Given the description of an element on the screen output the (x, y) to click on. 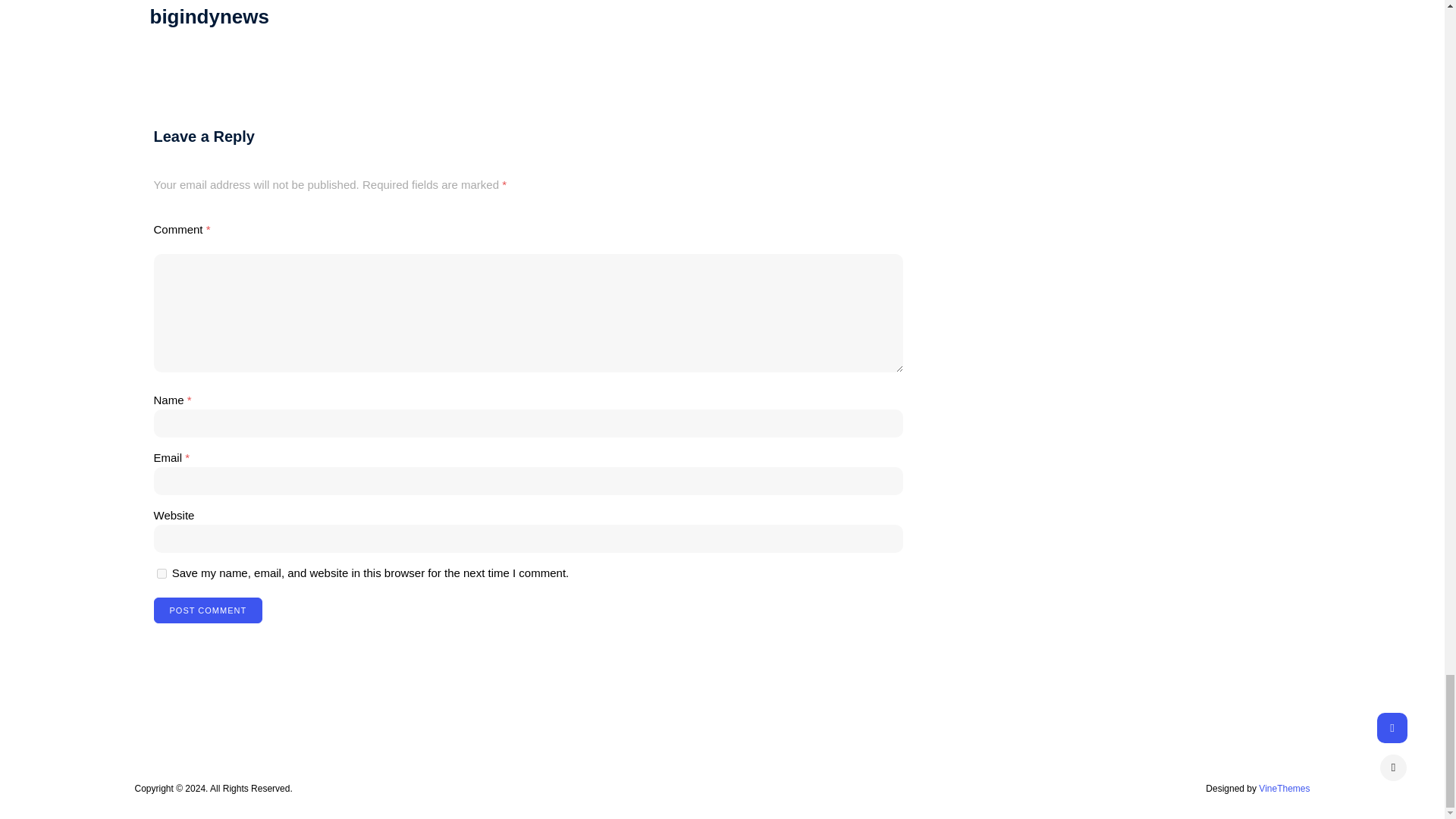
bigindynews (209, 15)
Post Comment (207, 610)
yes (160, 573)
Post Comment (207, 610)
VineThemes (1283, 787)
